Given the description of an element on the screen output the (x, y) to click on. 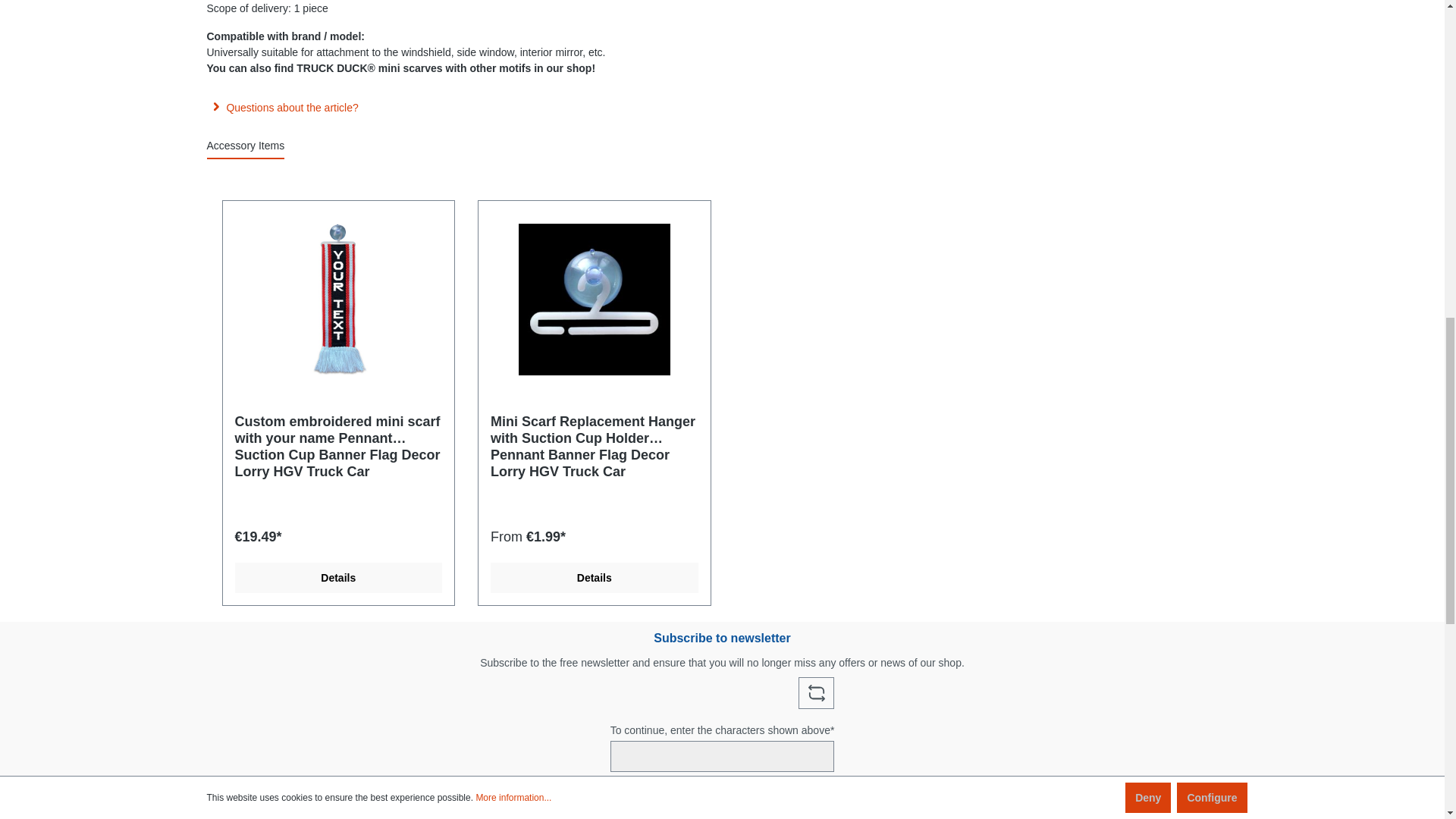
on (439, 813)
